Given the description of an element on the screen output the (x, y) to click on. 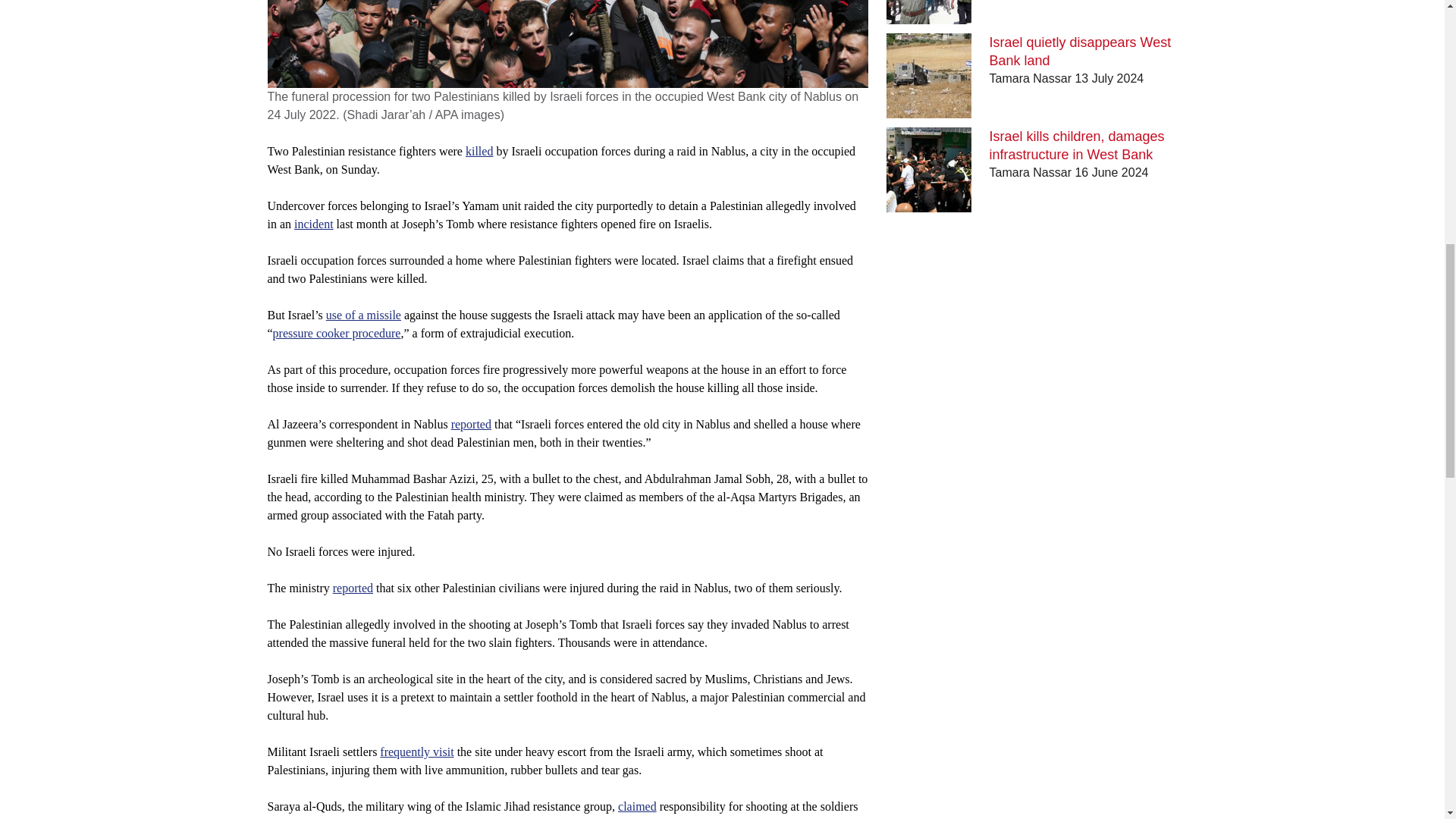
incident (313, 223)
reported (352, 587)
use of a missile (363, 314)
frequently visit (416, 751)
claimed (636, 806)
killed (479, 151)
pressure cooker procedure (337, 332)
reported (471, 423)
